Given the description of an element on the screen output the (x, y) to click on. 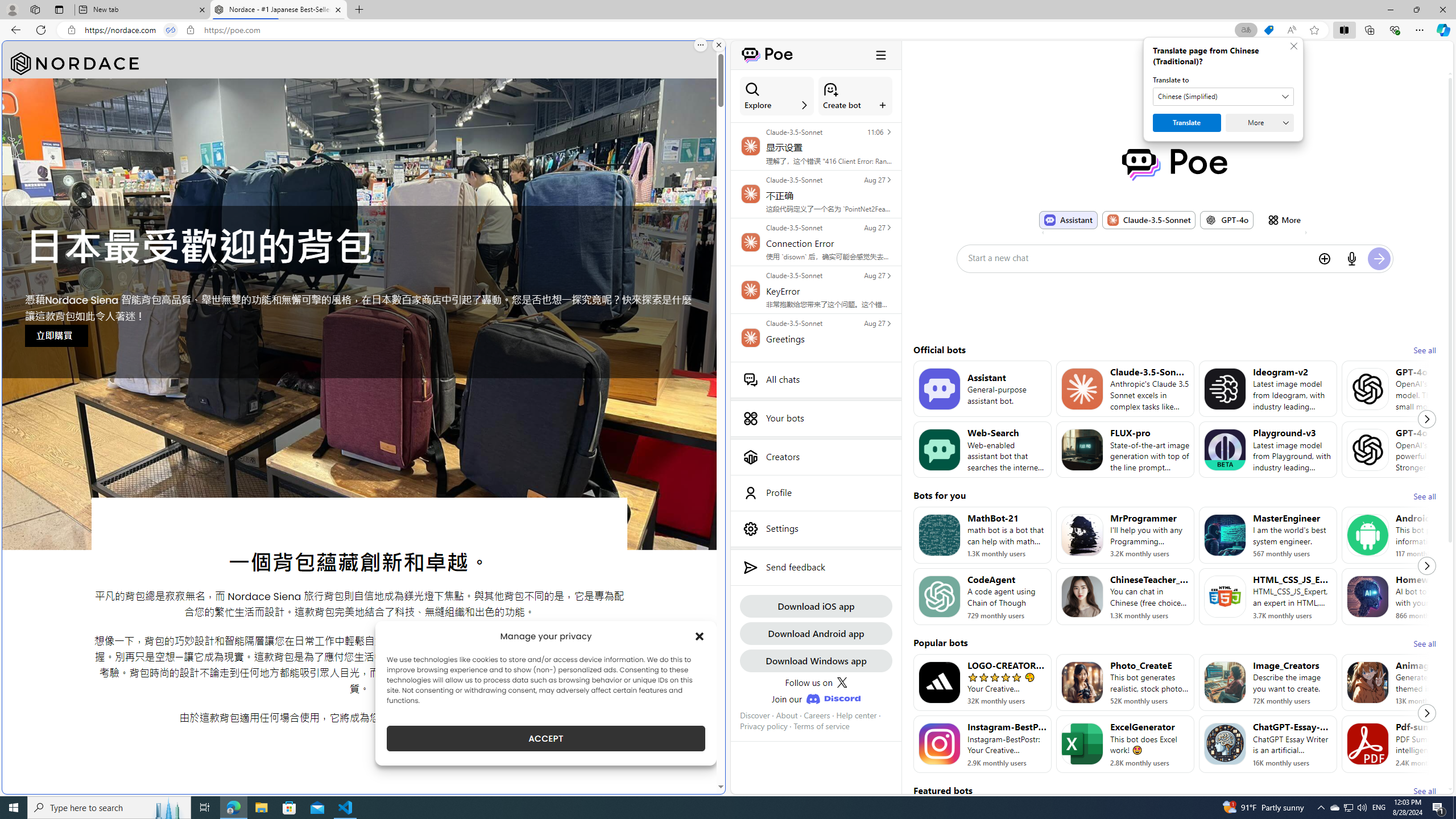
More options. (700, 45)
Bot image for Photo_CreateE (1081, 682)
Profile (815, 493)
This site has coupons! Shopping in Microsoft Edge (1268, 29)
Join our (815, 698)
Bot image for GPT-4o GPT-4o (1226, 219)
Follow us on (815, 682)
Bot image for FLUX-pro (1081, 449)
Settings (815, 528)
